Given the description of an element on the screen output the (x, y) to click on. 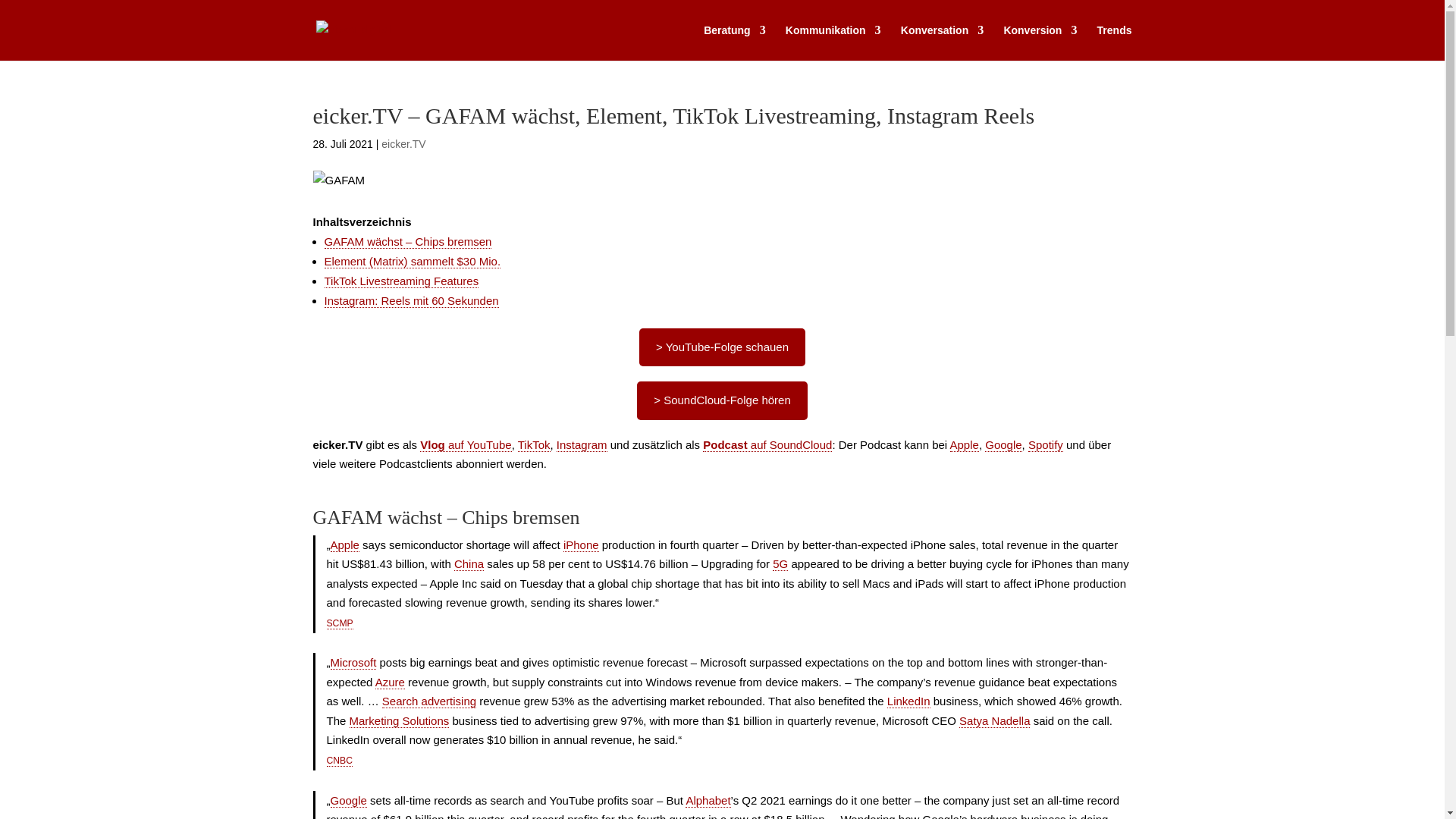
Konversation (942, 42)
TikTok (534, 445)
Apple (344, 545)
Kommunikation (833, 42)
Podcast auf SoundCloud (767, 445)
Google (1003, 445)
Vlog auf YouTube (465, 445)
Konversion (1040, 42)
Apple (963, 445)
Instagram: Reels mit 60 Sekunden (411, 300)
